Given the description of an element on the screen output the (x, y) to click on. 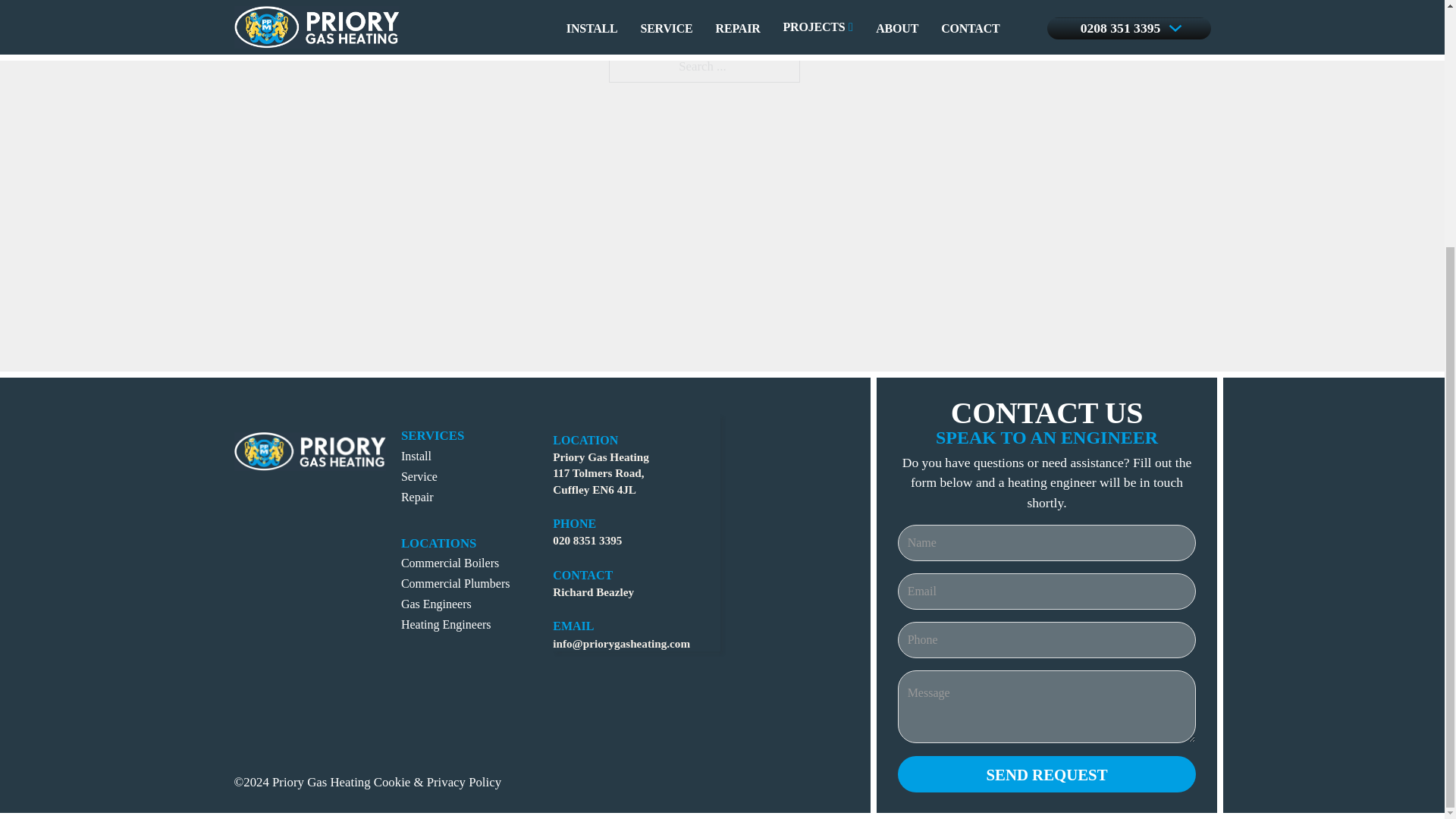
Install (415, 454)
Send Request (1047, 773)
Service (419, 475)
Repair (417, 495)
Commercial Plumbers (456, 582)
Send Request (1047, 773)
Heating Engineers (446, 623)
Gas Engineers (436, 603)
Commercial Boilers (450, 562)
